Given the description of an element on the screen output the (x, y) to click on. 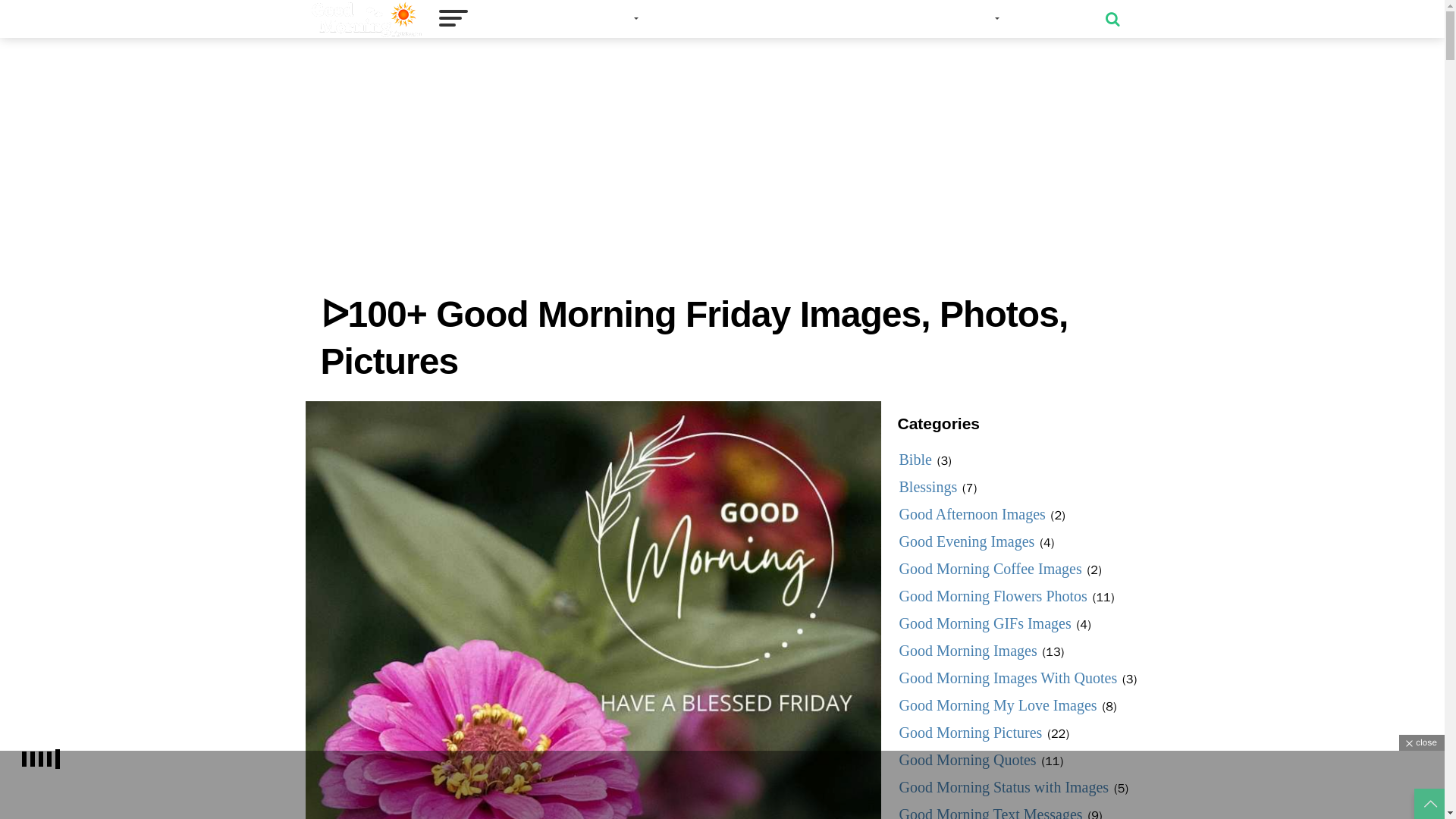
Advertisement (721, 785)
GOOD MORNING GIFS IMAGES (740, 19)
GOOD MORNING IMAGES (561, 19)
GOOD MORNING QUOTES (921, 19)
